Given the description of an element on the screen output the (x, y) to click on. 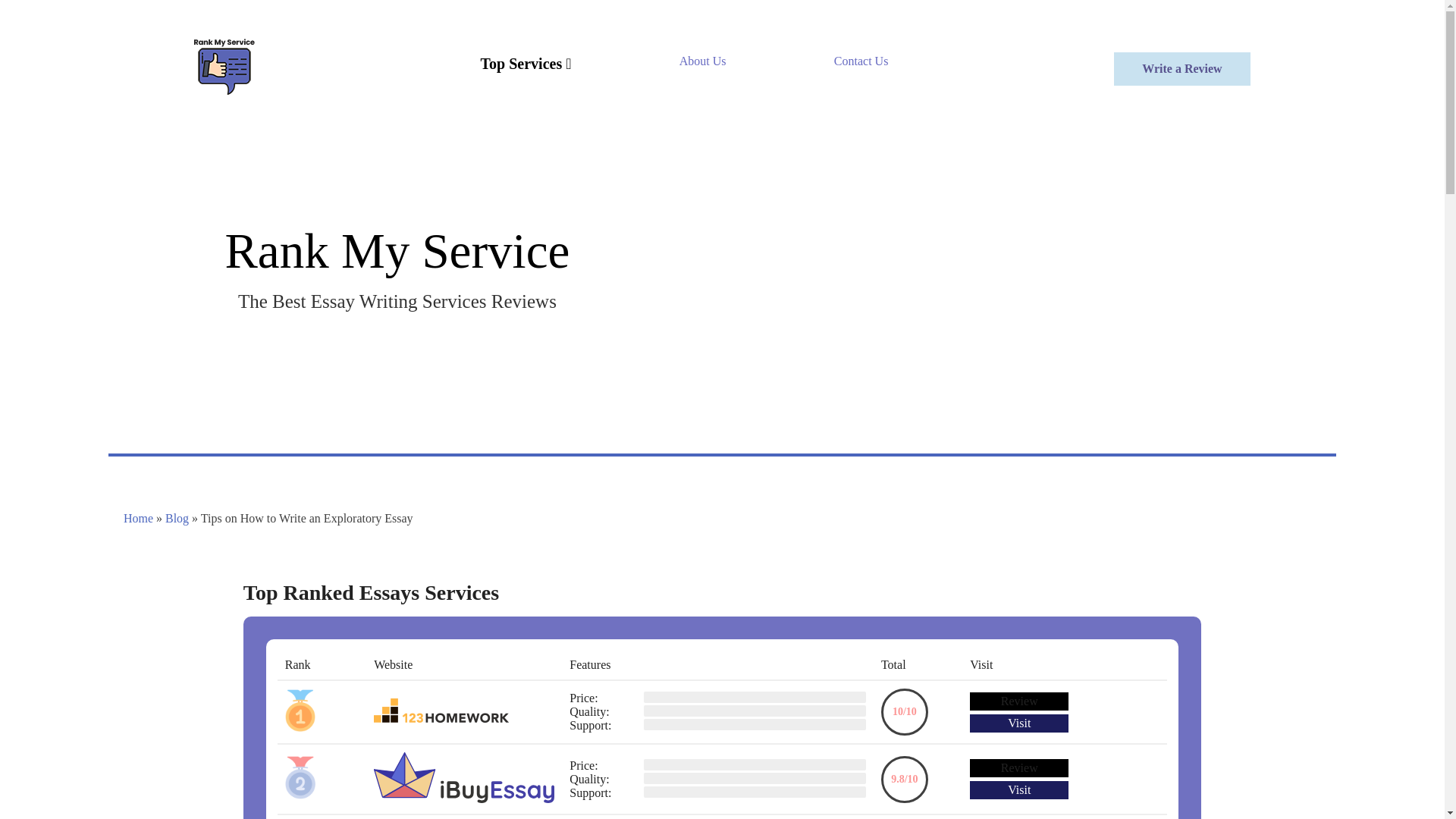
Blog (177, 517)
Review (1018, 768)
About Us (702, 60)
Write a Review (1181, 68)
Review (1018, 700)
Visit (1018, 790)
Visit (1018, 723)
Home (137, 517)
Contact Us (861, 60)
